Given the description of an element on the screen output the (x, y) to click on. 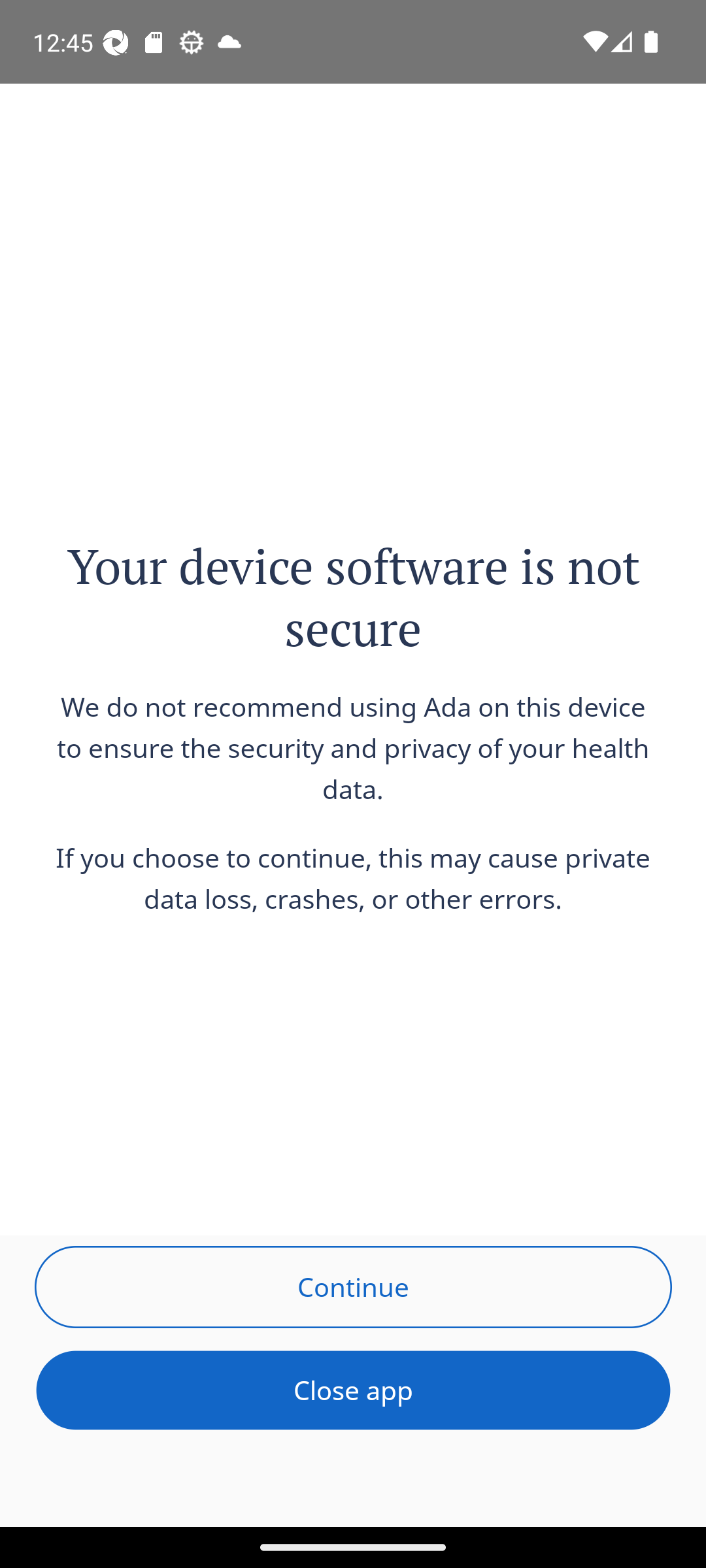
Continue (353, 1286)
Close app (353, 1390)
